Given the description of an element on the screen output the (x, y) to click on. 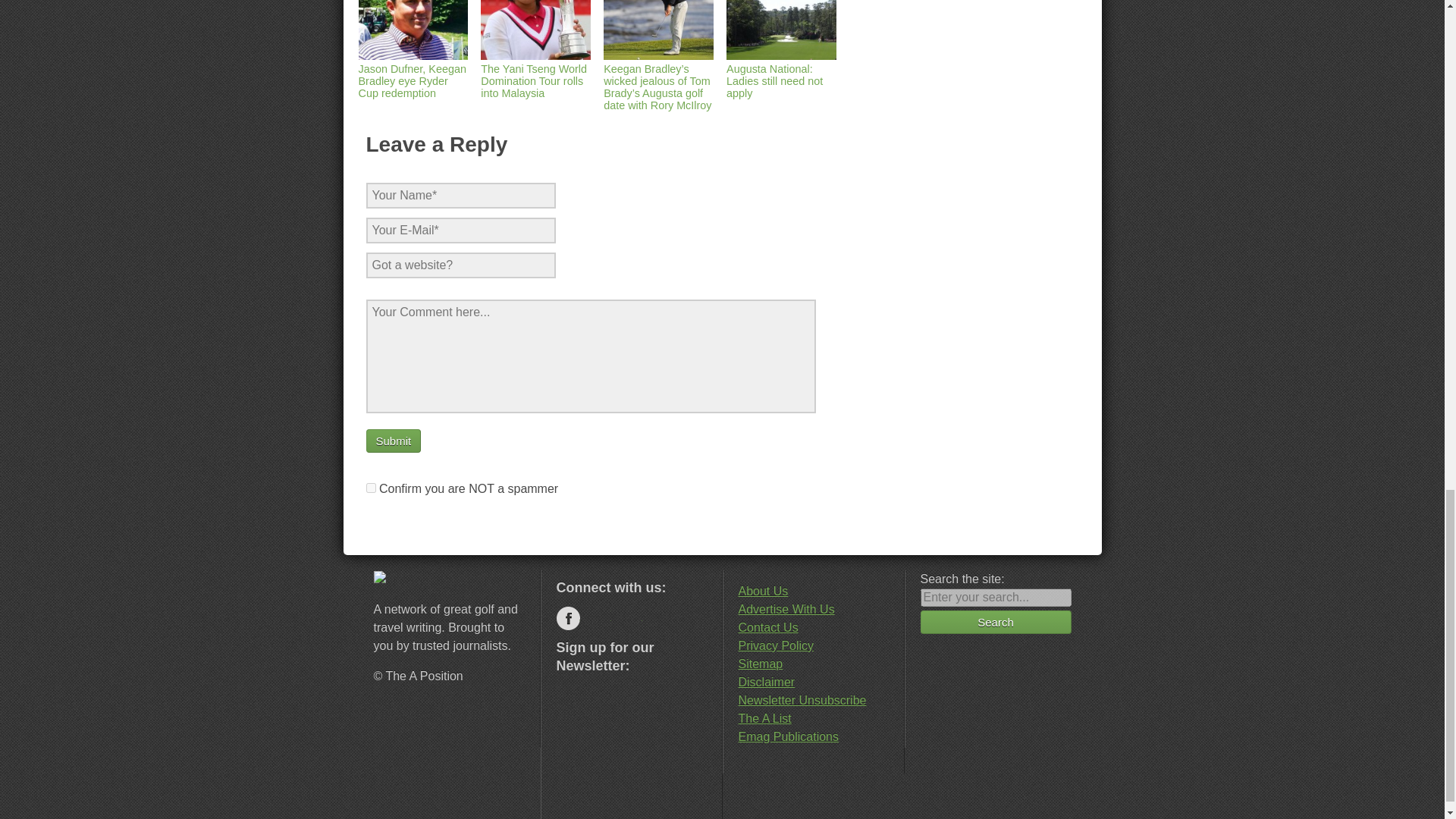
The Yani Tseng World Domination Tour rolls into Malaysia (534, 74)
Search (995, 621)
Augusta National: Ladies still need not apply (780, 74)
on (370, 488)
Submit (392, 440)
Jason Dufner, Keegan Bradley eye Ryder Cup redemption (412, 74)
